Given the description of an element on the screen output the (x, y) to click on. 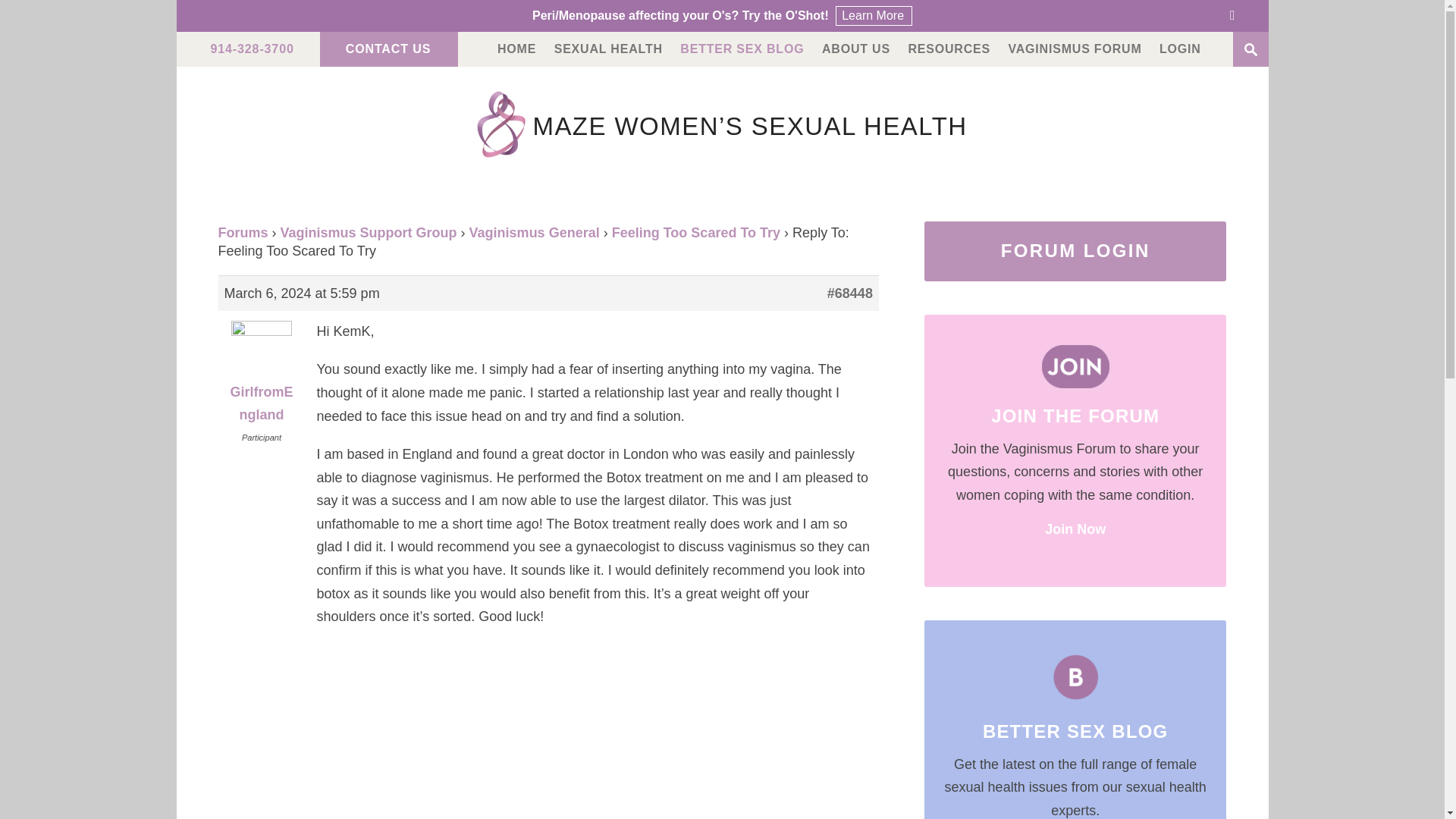
SEXUAL HEALTH (608, 49)
CONTACT US (388, 49)
HOME (516, 49)
914-328-3700 (252, 49)
BETTER SEX BLOG (741, 49)
RESOURCES (948, 49)
ABOUT US (855, 49)
